Given the description of an element on the screen output the (x, y) to click on. 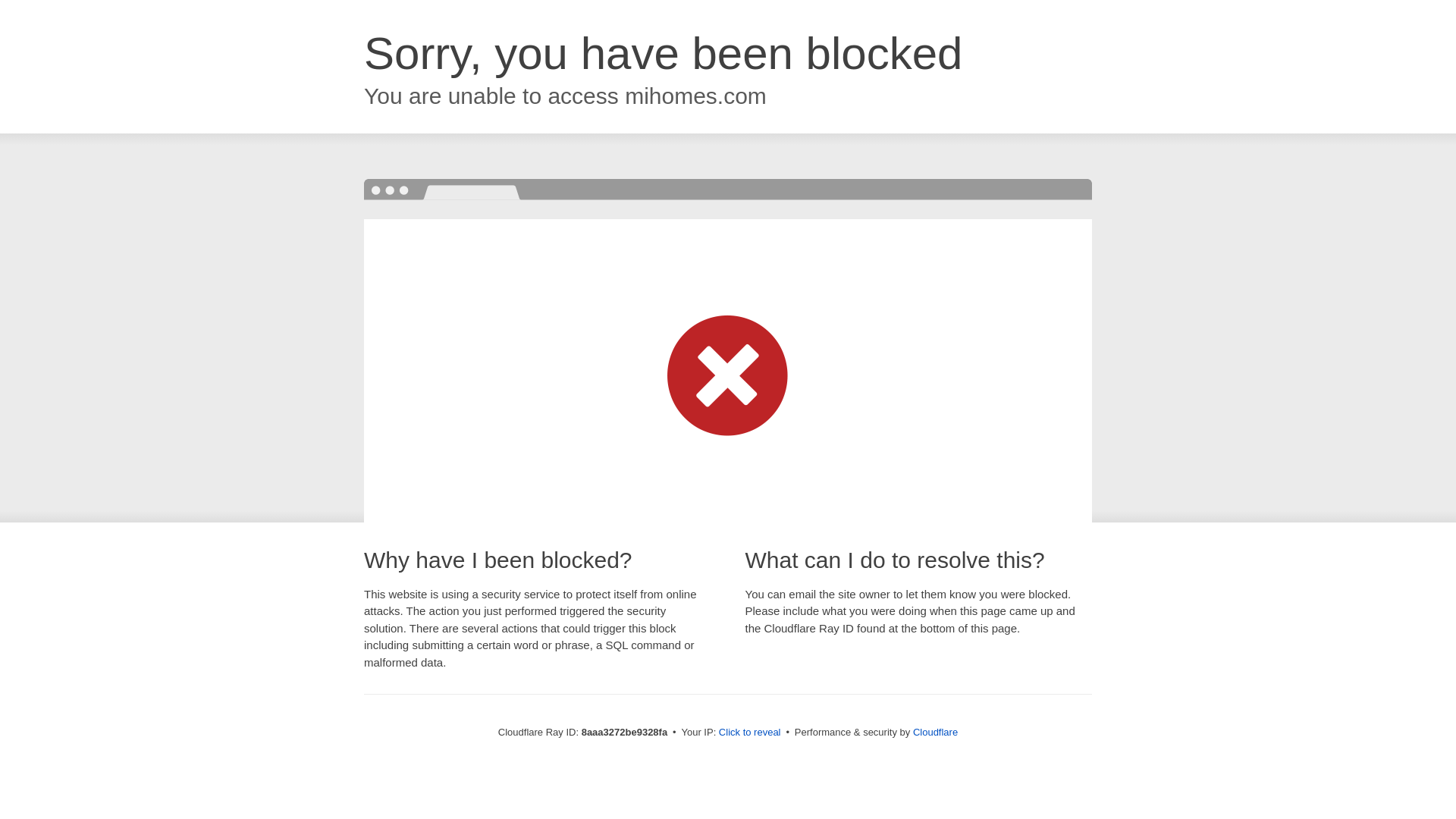
Click to reveal (749, 732)
Cloudflare (935, 731)
